Given the description of an element on the screen output the (x, y) to click on. 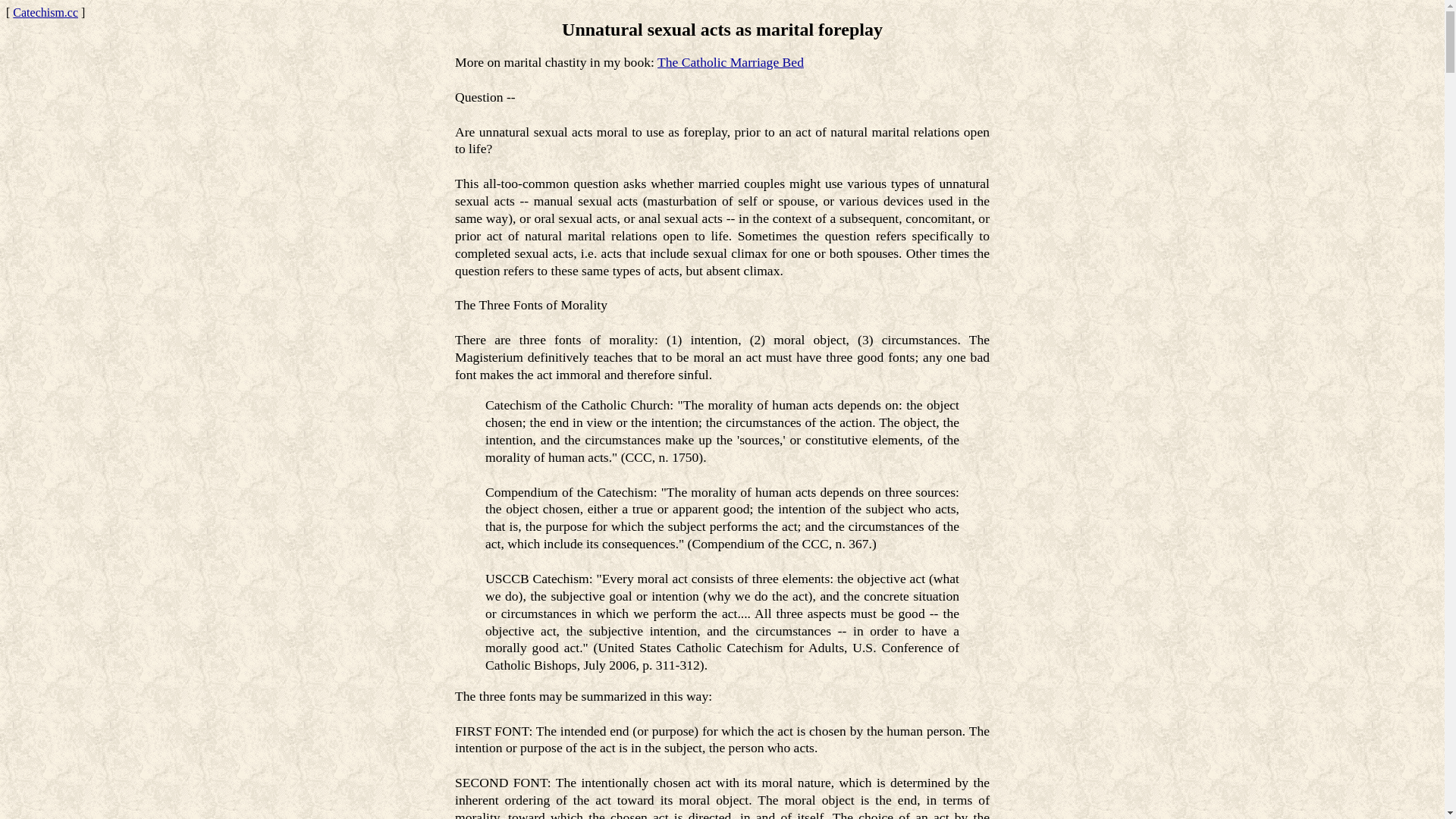
The Catholic Marriage Bed Element type: text (730, 61)
Catechism.cc Element type: text (45, 12)
